Given the description of an element on the screen output the (x, y) to click on. 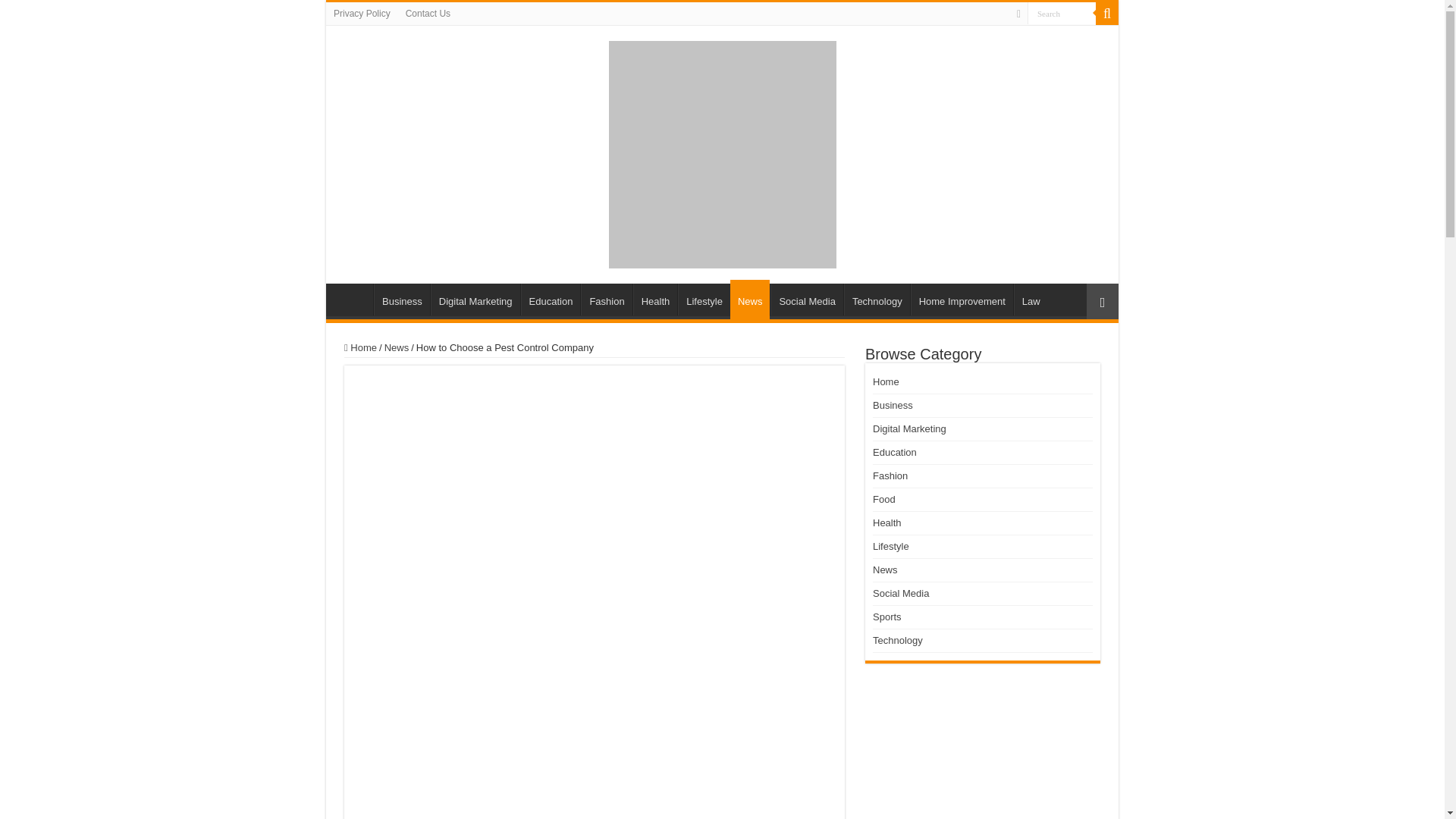
Lifestyle (704, 299)
Technology (877, 299)
Home Improvement (962, 299)
Health (655, 299)
Search (1107, 13)
Search (1061, 13)
Privacy Policy (361, 13)
Pagal World (721, 151)
News (396, 347)
Digital Marketing (474, 299)
